Given the description of an element on the screen output the (x, y) to click on. 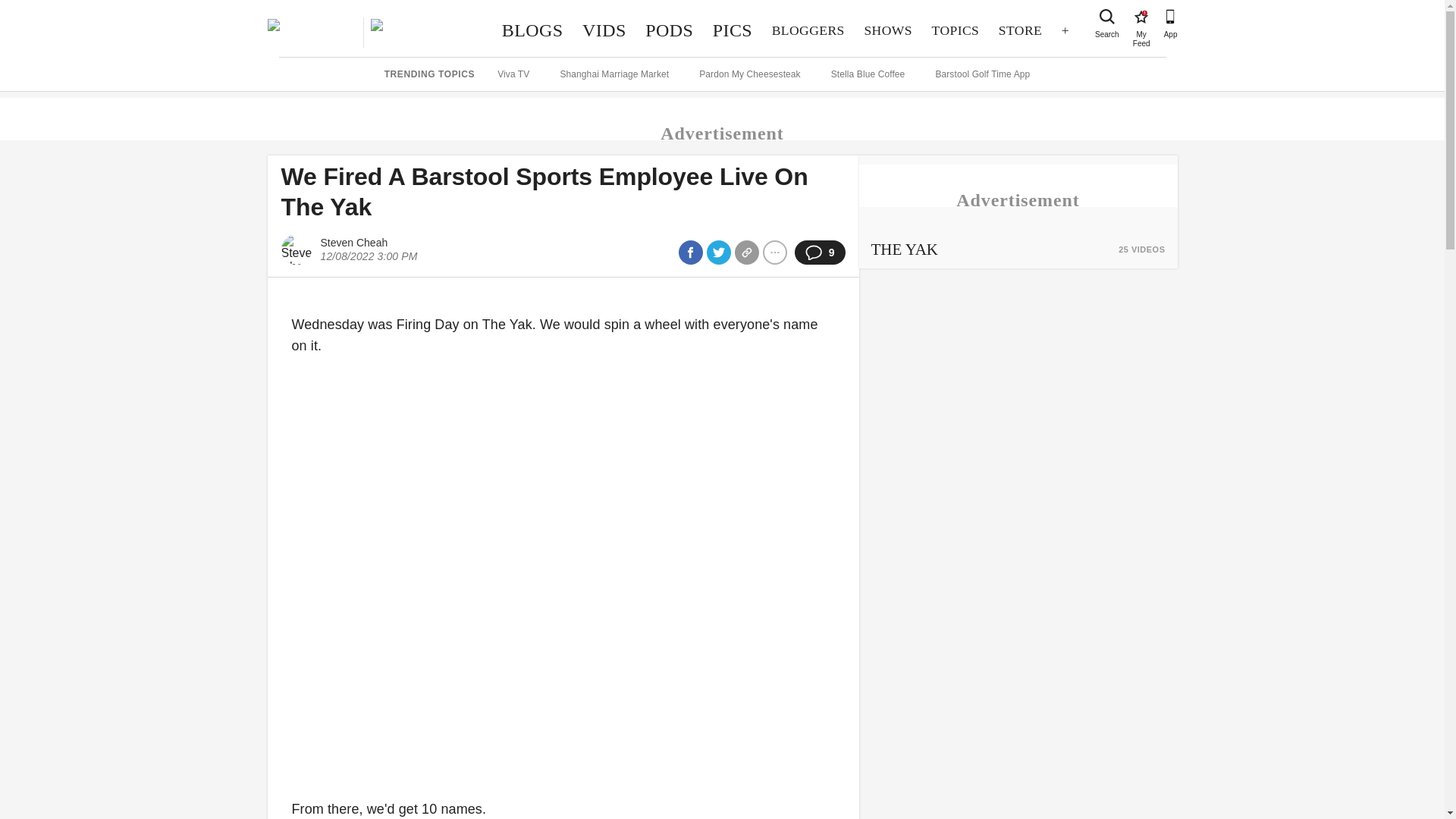
BLOGGERS (807, 30)
Search (1107, 16)
VIDS (603, 30)
STORE (1019, 30)
PODS (1141, 16)
SHOWS (668, 30)
PICS (887, 30)
BLOGS (732, 30)
TOPICS (532, 30)
